Given the description of an element on the screen output the (x, y) to click on. 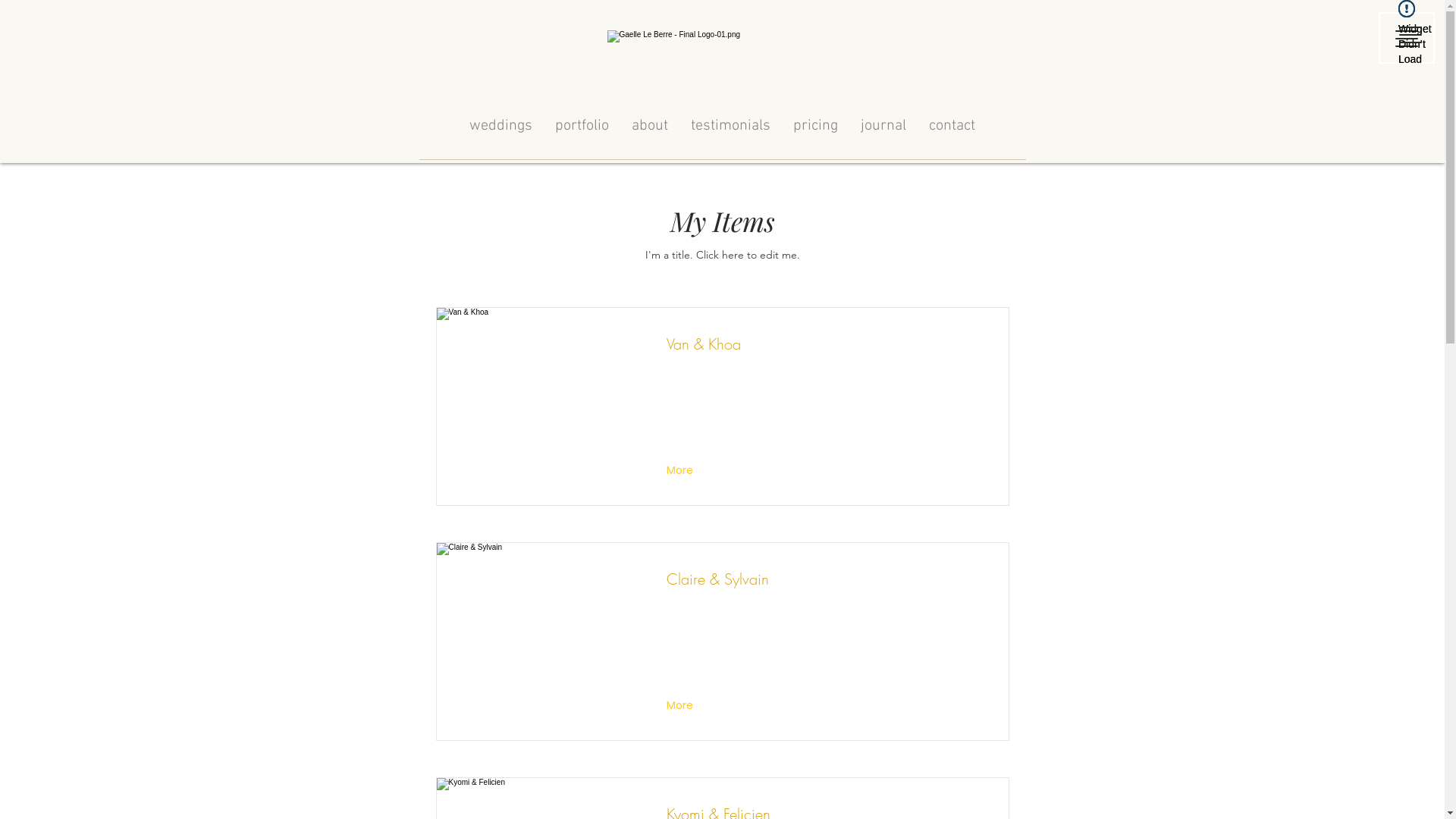
Van & Khoa Element type: hover (534, 406)
testimonials Element type: text (730, 124)
journal Element type: text (883, 124)
weddings Element type: text (500, 124)
portfolio Element type: text (581, 124)
Impressive Site Menu Element type: hover (1406, 37)
contact Element type: text (951, 124)
More Element type: text (680, 469)
Claire & Sylvain Element type: hover (534, 641)
about Element type: text (649, 124)
More Element type: text (680, 704)
pricing Element type: text (815, 124)
